Given the description of an element on the screen output the (x, y) to click on. 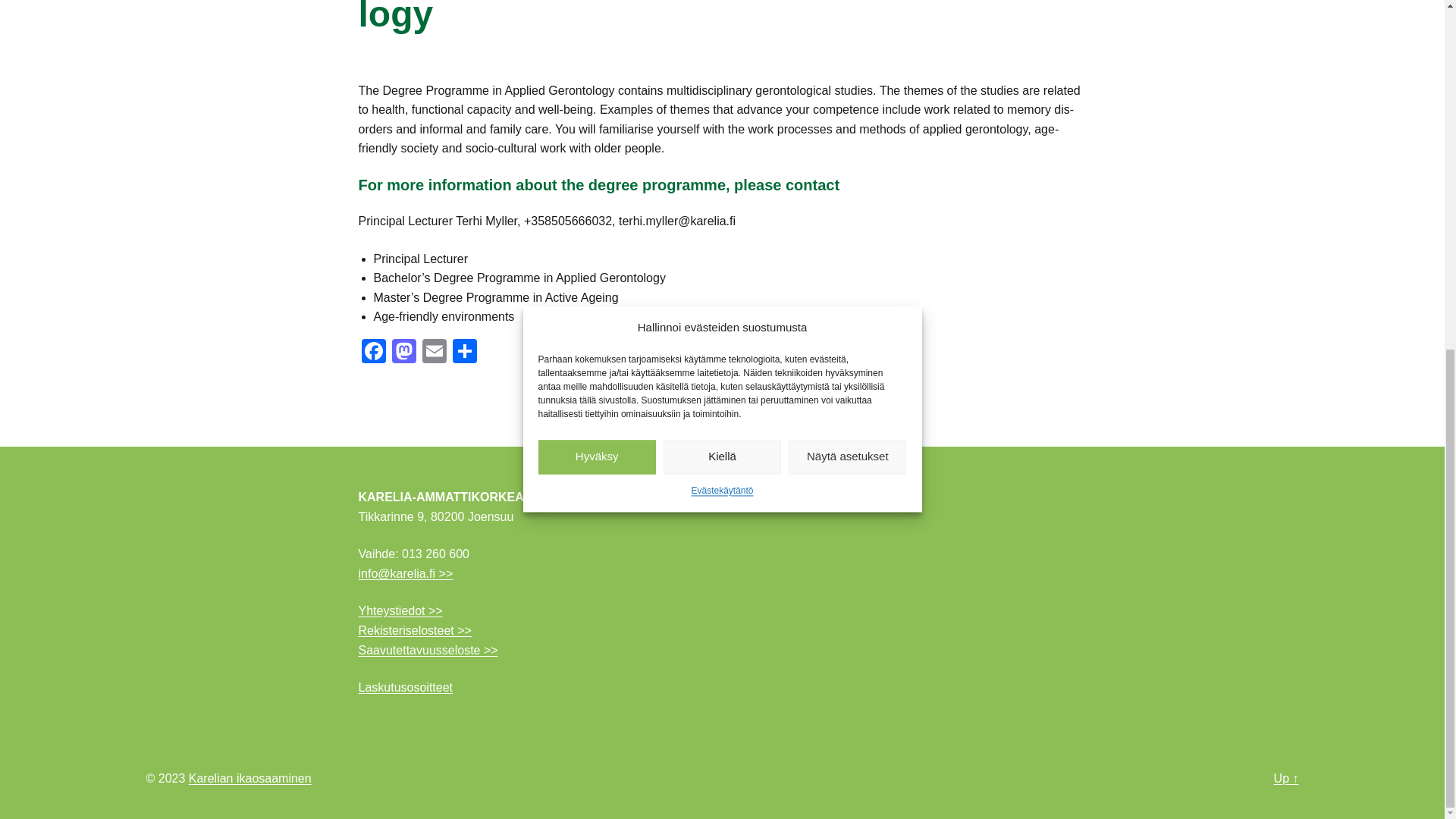
Facebook (373, 352)
Email (433, 352)
Facebook (373, 352)
Mastodon (403, 352)
Email (433, 352)
Share (463, 352)
Mastodon (403, 352)
Laskutusosoitteet (405, 686)
